Given the description of an element on the screen output the (x, y) to click on. 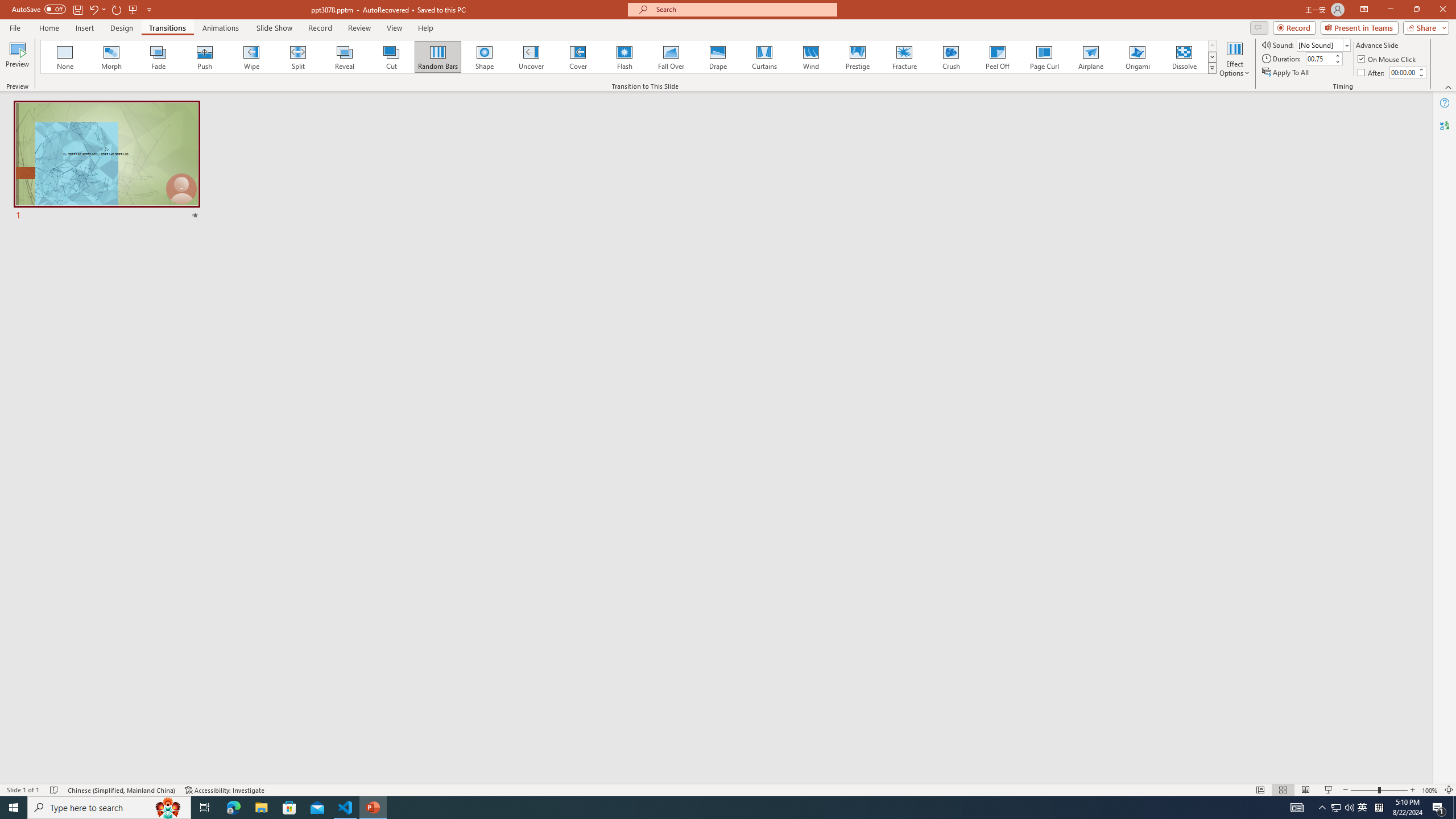
Prestige (857, 56)
Fall Over (670, 56)
Dissolve (1183, 56)
Page Curl (1043, 56)
